Given the description of an element on the screen output the (x, y) to click on. 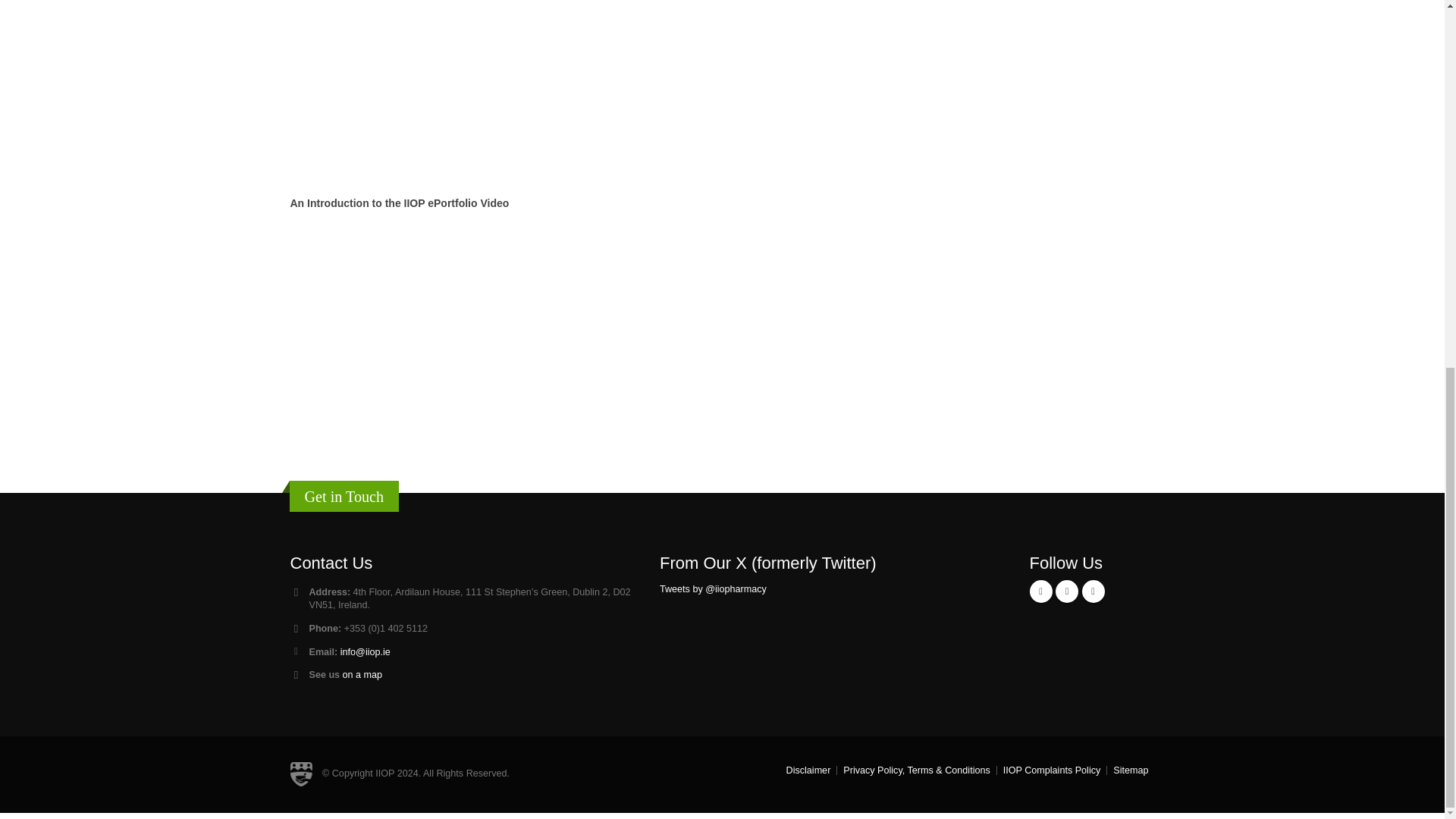
YouTube video player (501, 53)
Linkedin (1092, 590)
YouTube video player (501, 346)
Facebook (1040, 590)
YouTube video player (501, 672)
